Given the description of an element on the screen output the (x, y) to click on. 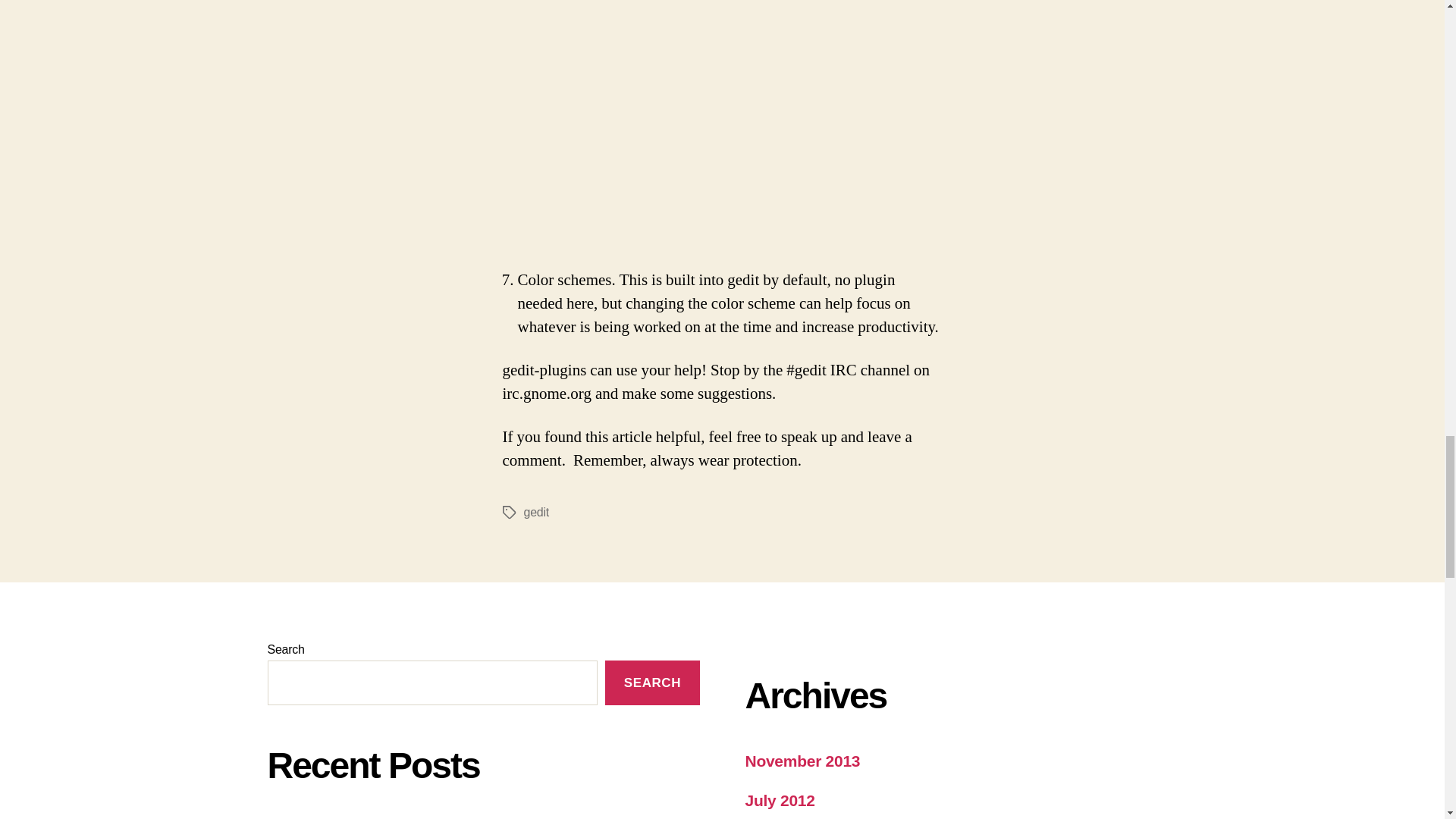
snippets.png (729, 252)
July 2012 (778, 800)
SEARCH (651, 682)
gedit (535, 512)
external-tools.png (729, 58)
November 2013 (802, 760)
